Given the description of an element on the screen output the (x, y) to click on. 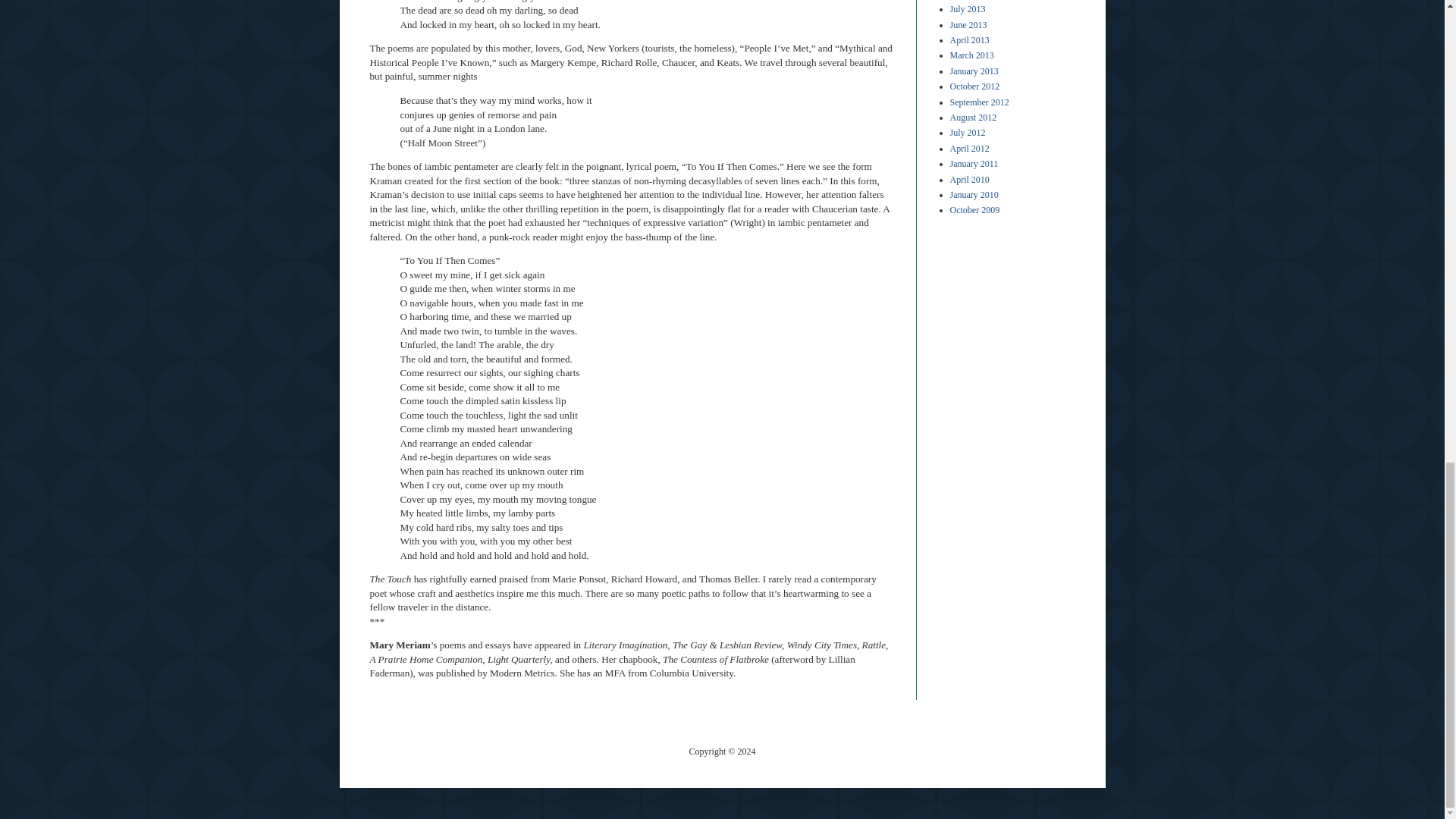
January 2011 (973, 163)
April 2010 (968, 179)
July 2012 (967, 132)
March 2013 (970, 54)
October 2009 (973, 209)
September 2012 (979, 102)
July 2013 (967, 9)
August 2012 (972, 117)
June 2013 (968, 24)
January 2010 (973, 194)
